Given the description of an element on the screen output the (x, y) to click on. 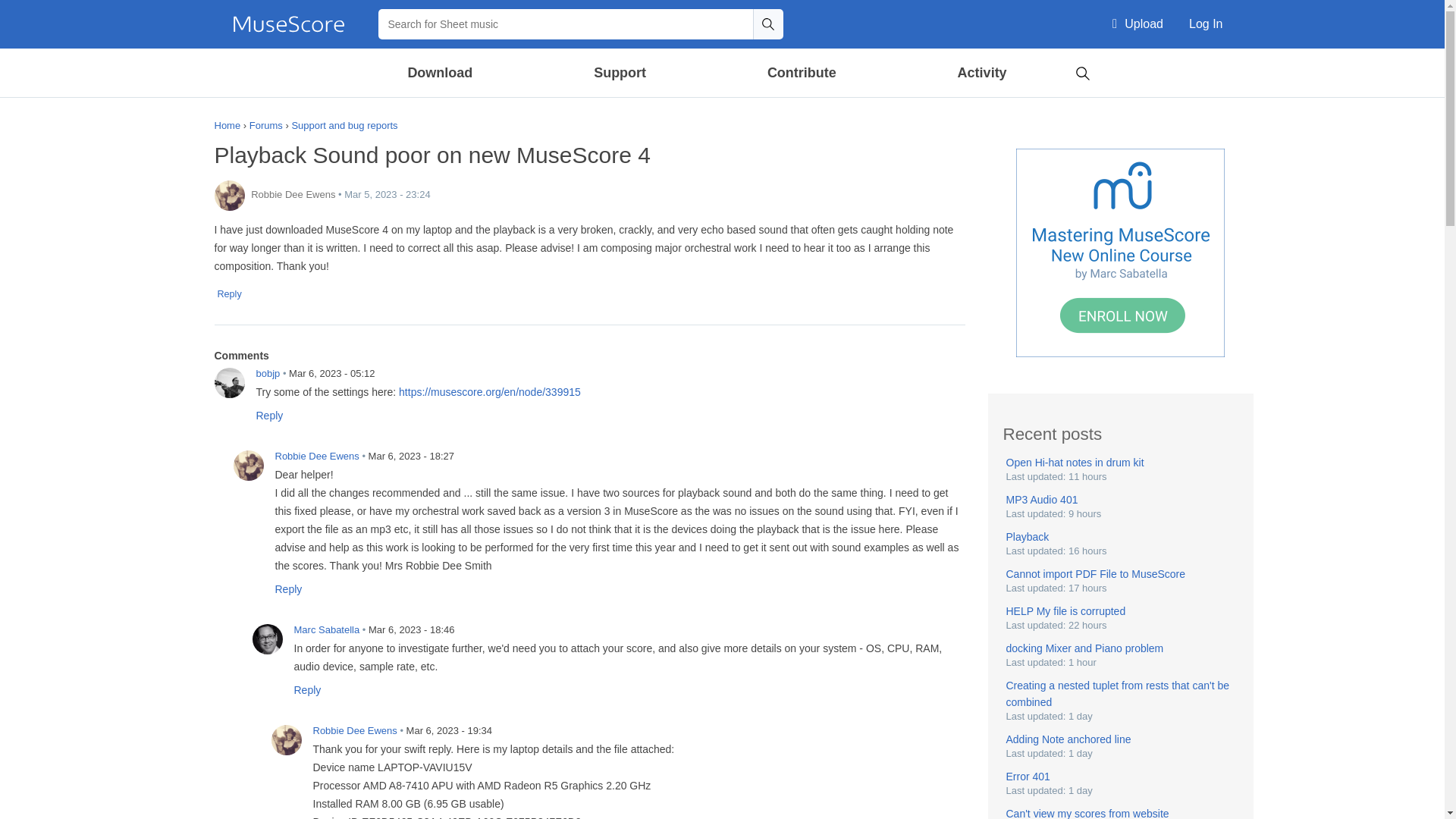
Contribute (801, 72)
Search (767, 24)
MuseScore (287, 23)
Home (287, 23)
Robbie Dee Ewens (285, 739)
Download (440, 72)
Activity (981, 72)
Marc Sabatella (266, 639)
Support (619, 72)
Search (767, 24)
Robbie Dee Ewens (247, 465)
Upload (1137, 24)
Log In (1205, 24)
Robbie Dee Ewens (229, 195)
